Given the description of an element on the screen output the (x, y) to click on. 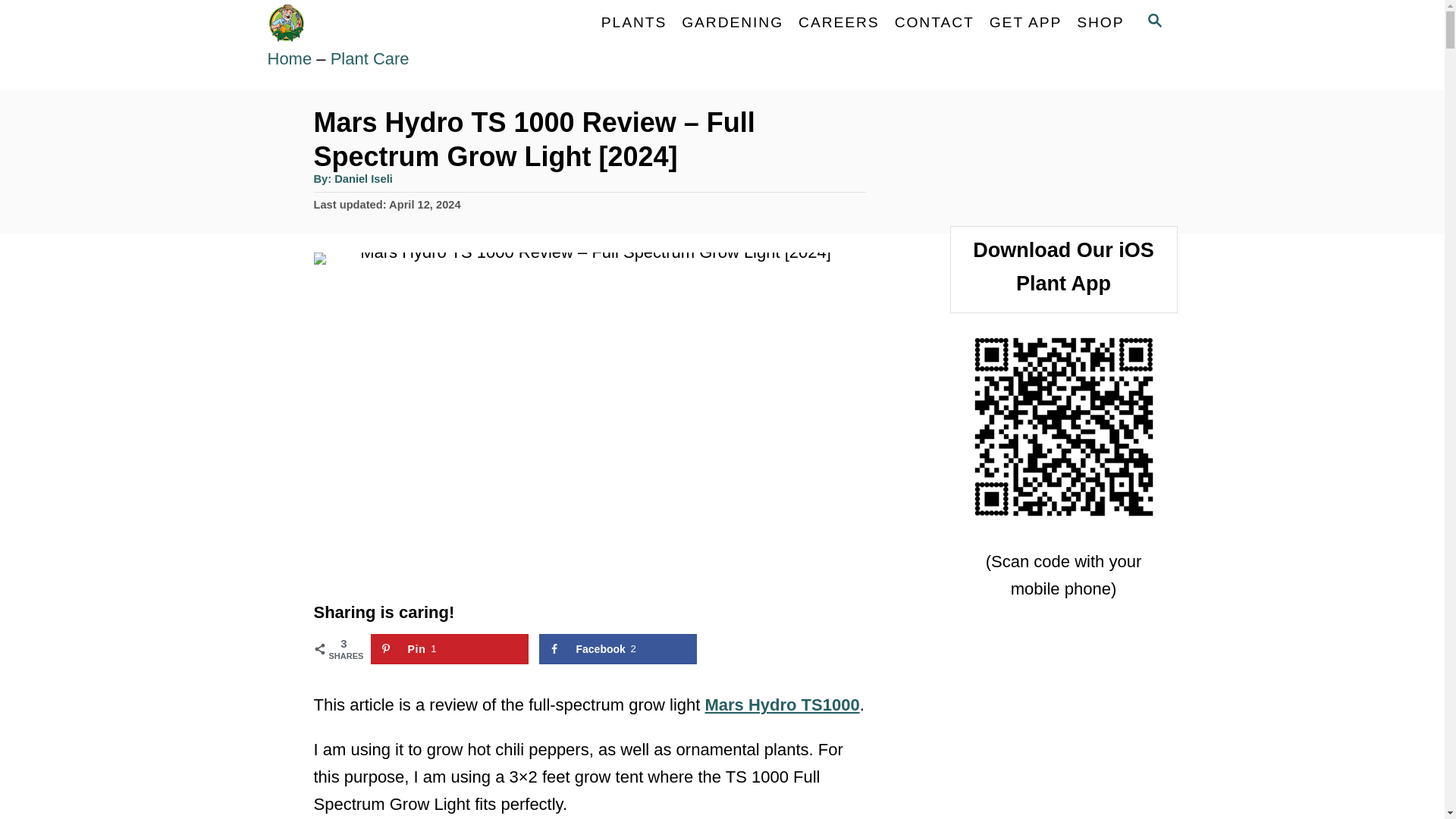
Share on Facebook (617, 648)
PLANTS (634, 22)
SEARCH (1153, 22)
Save to Pinterest (448, 648)
GARDENING (732, 22)
CAREERS (838, 22)
CONTACT (933, 22)
Plantophiles (403, 22)
